Given the description of an element on the screen output the (x, y) to click on. 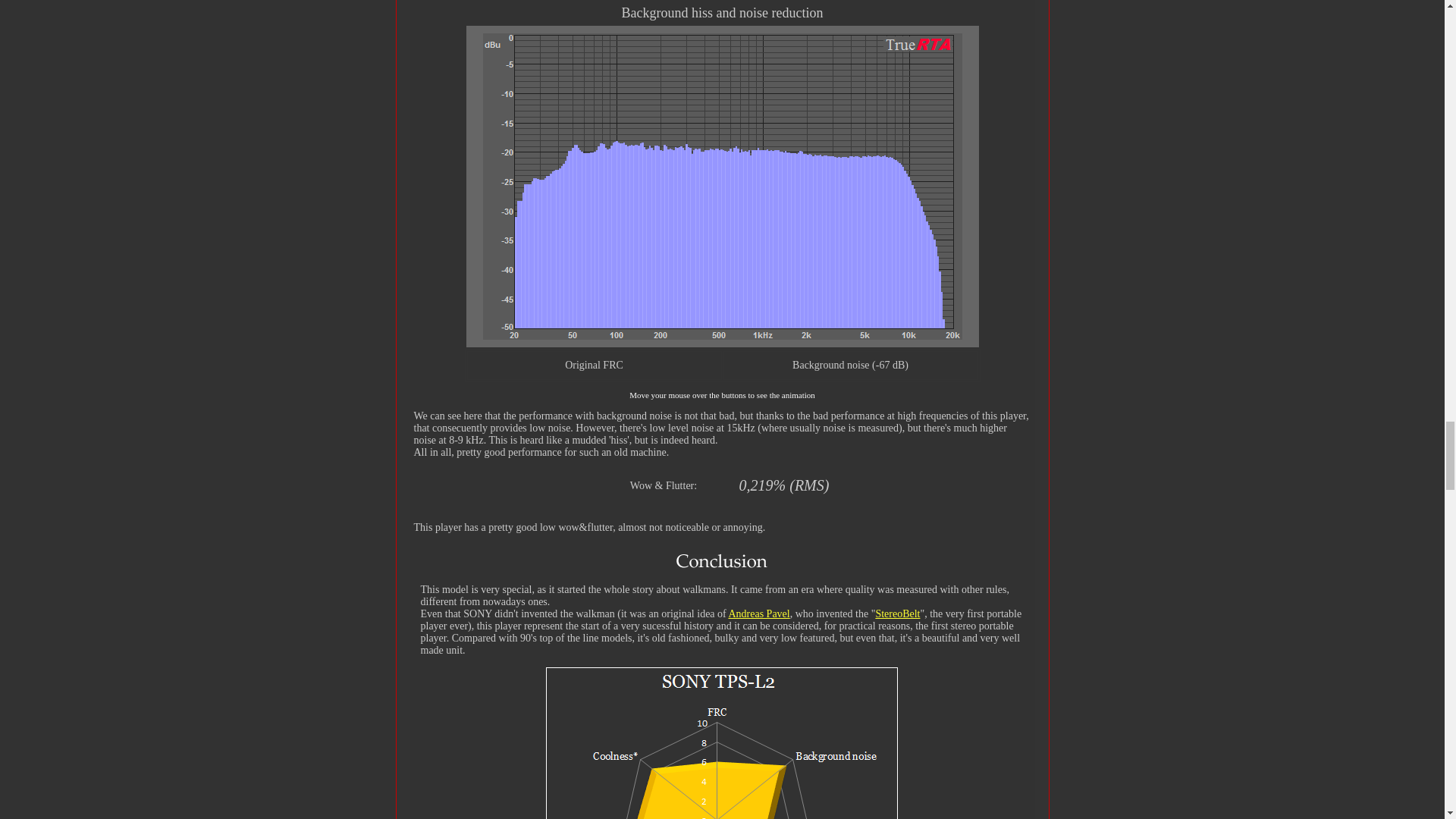
StereoBelt (897, 613)
Andreas Pavel (758, 613)
